Given the description of an element on the screen output the (x, y) to click on. 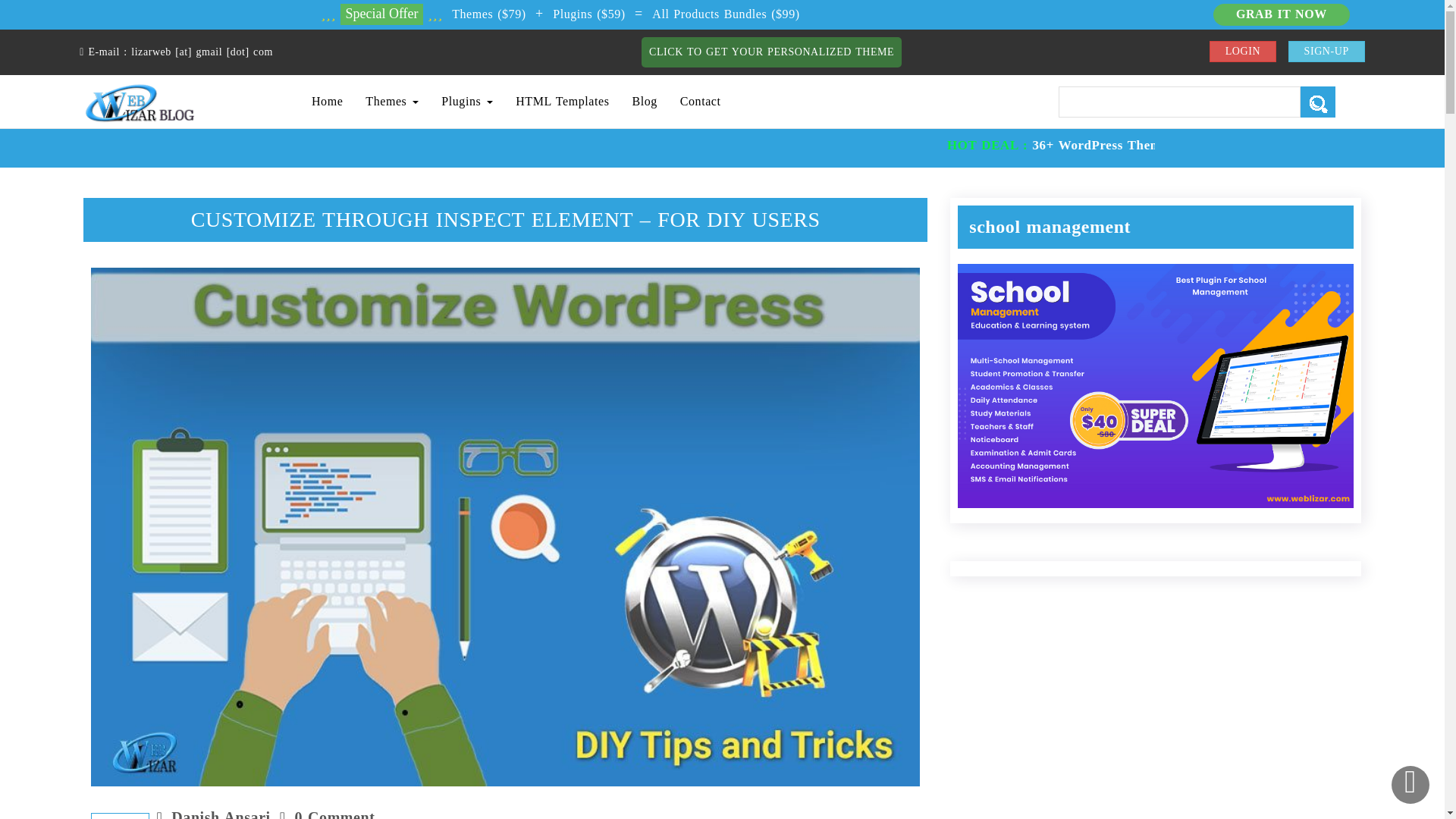
Weblizar Blog (139, 99)
Search (1317, 101)
GRAB IT NOW (1280, 14)
Plugins (466, 101)
Posts by Danish Ansari (220, 814)
CLICK TO GET YOUR PERSONALIZED THEME (771, 51)
0 Comment (335, 814)
LOGIN (1242, 51)
HTML Templates (561, 101)
Special Offer (381, 14)
SIGN-UP (1326, 51)
Contact (700, 101)
Danish Ansari (220, 814)
Themes (391, 101)
Home (326, 101)
